Given the description of an element on the screen output the (x, y) to click on. 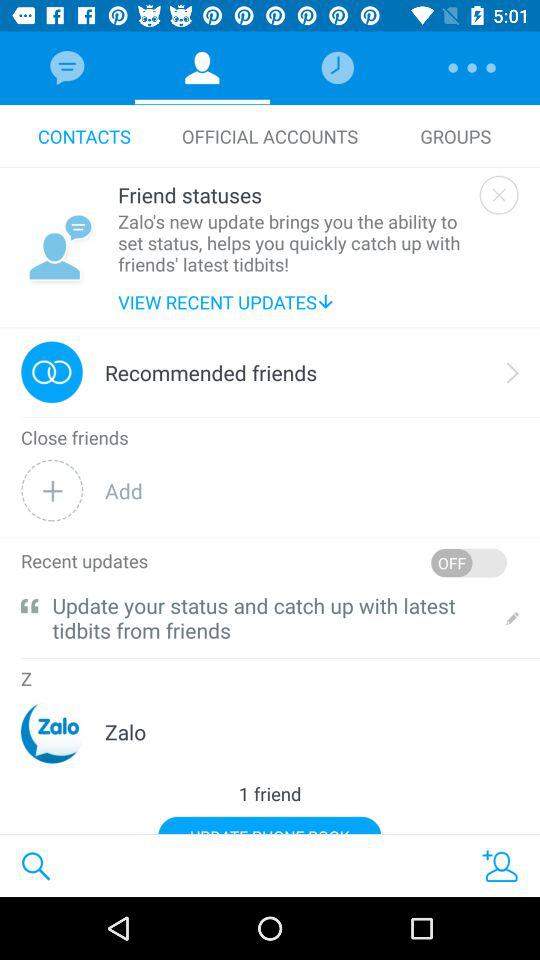
turn on icon next to update your status item (29, 606)
